Given the description of an element on the screen output the (x, y) to click on. 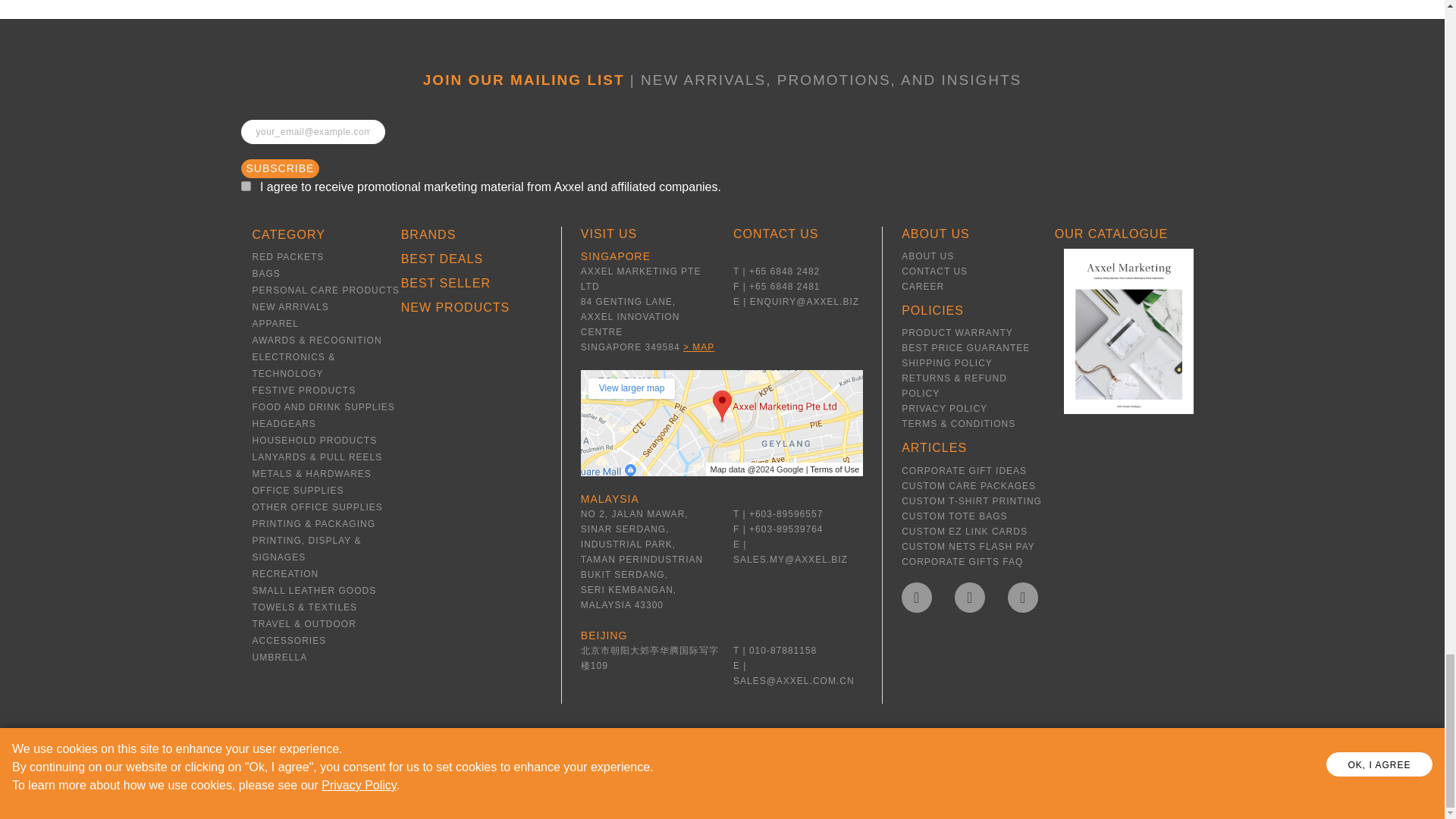
Subscribe (280, 168)
View Larger Map (631, 388)
1 (245, 185)
